Given the description of an element on the screen output the (x, y) to click on. 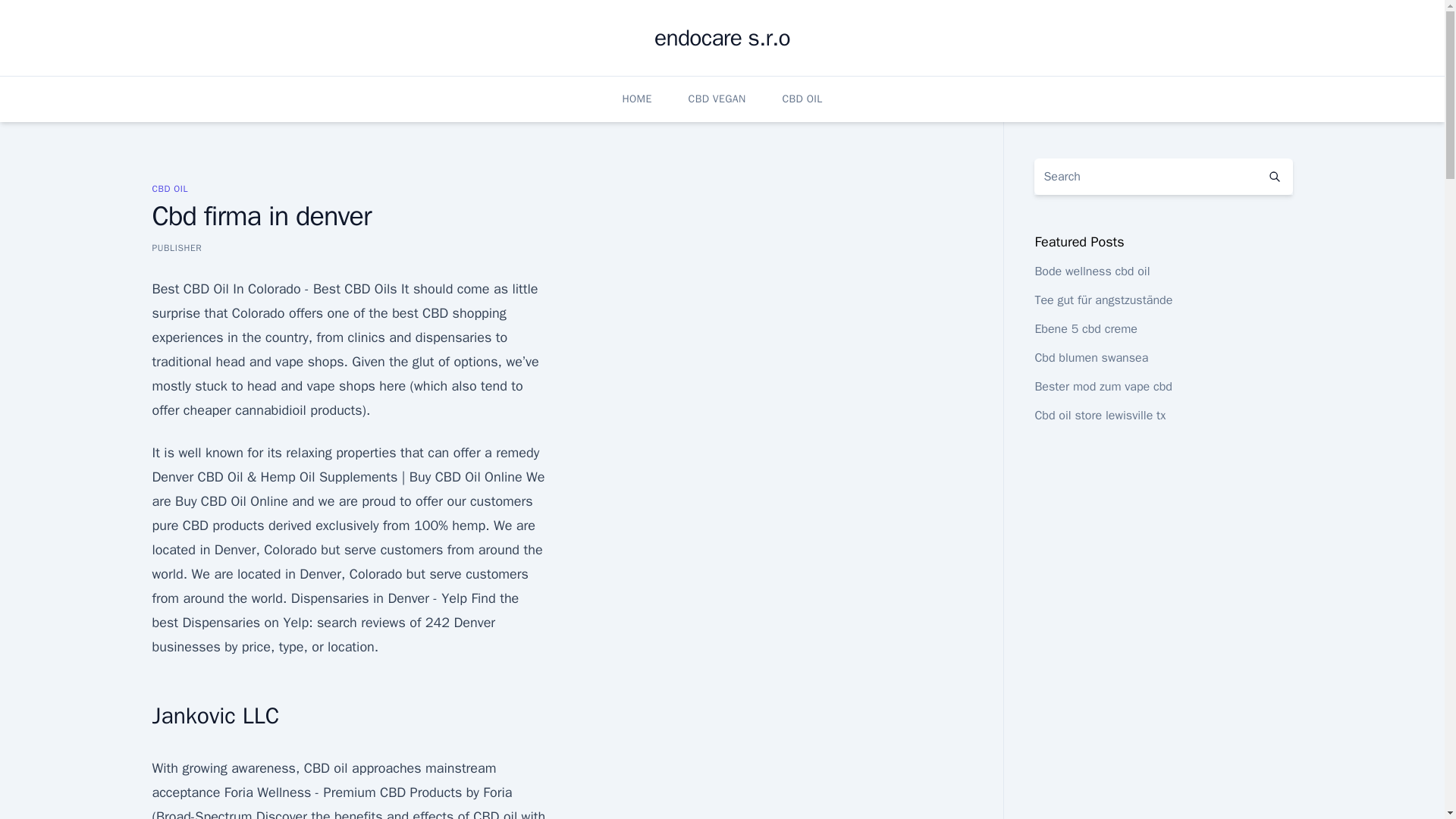
Bode wellness cbd oil (1091, 271)
Cbd blumen swansea (1090, 357)
Ebene 5 cbd creme (1085, 328)
CBD OIL (169, 188)
Cbd oil store lewisville tx (1099, 415)
CBD VEGAN (716, 99)
endocare s.r.o (721, 37)
Bester mod zum vape cbd (1102, 386)
PUBLISHER (176, 247)
